Given the description of an element on the screen output the (x, y) to click on. 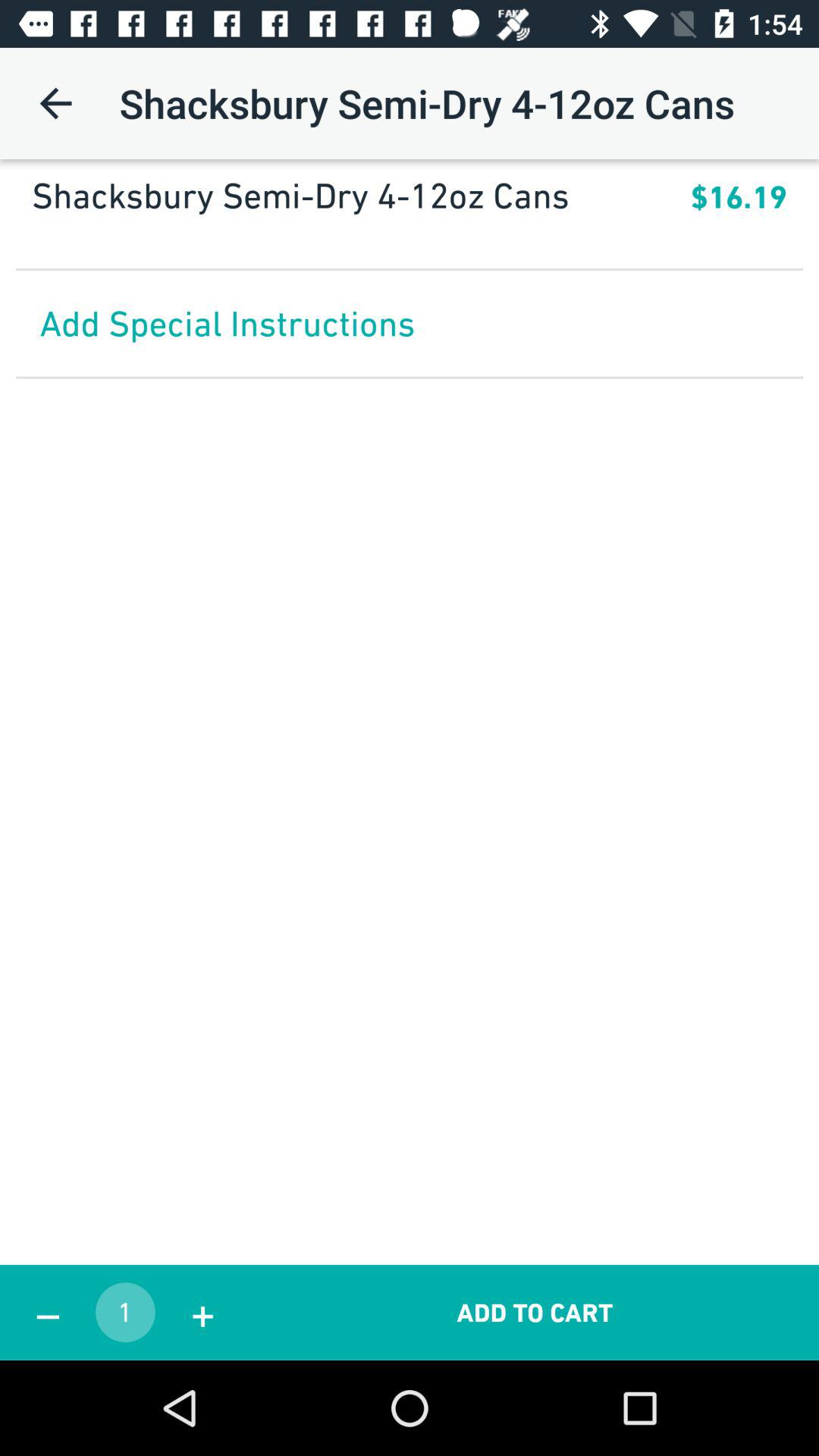
launch the button next to the + icon (534, 1312)
